Given the description of an element on the screen output the (x, y) to click on. 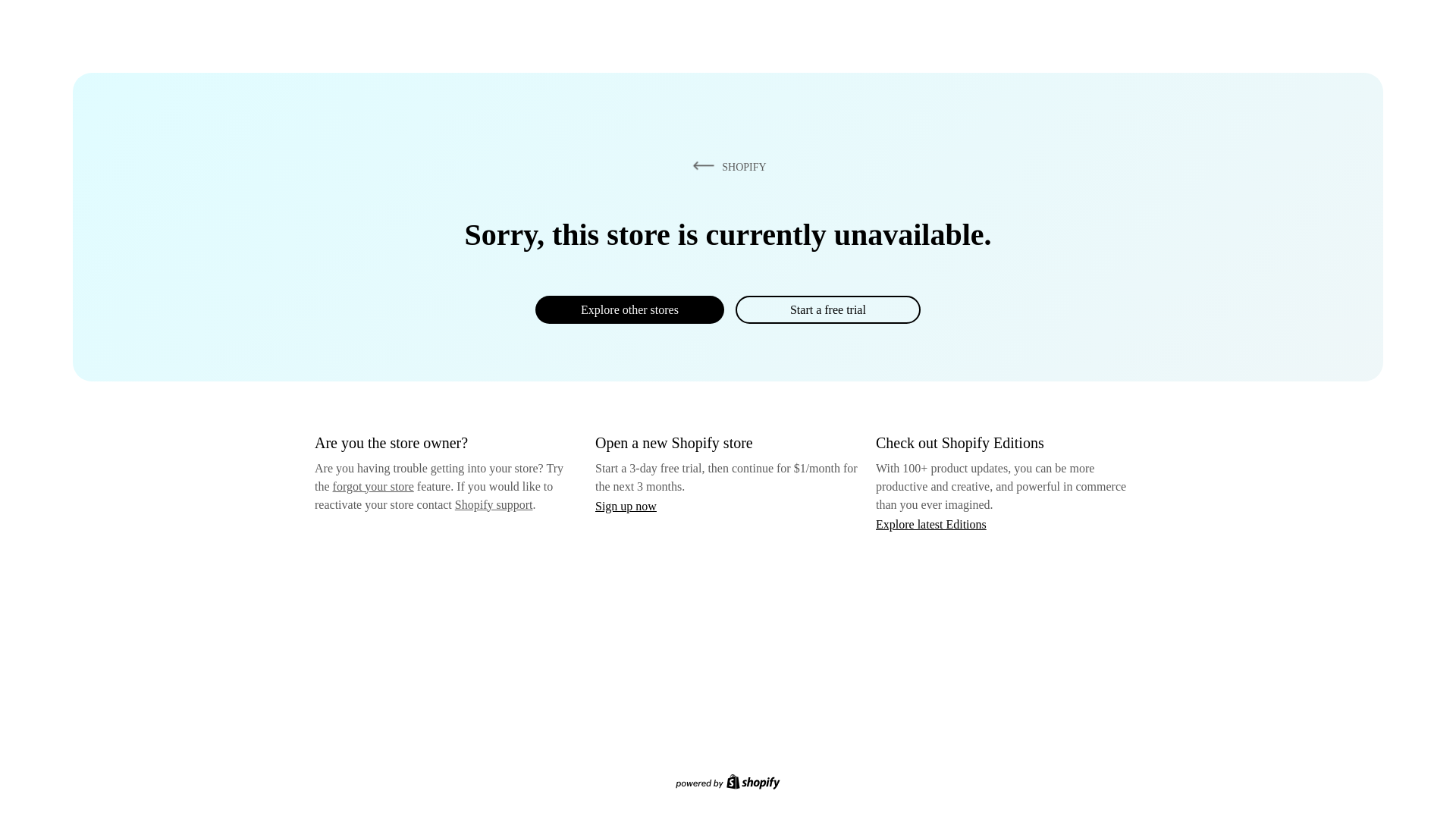
Explore other stores (629, 309)
Sign up now (625, 505)
SHOPIFY (726, 166)
Shopify support (493, 504)
Explore latest Editions (931, 523)
Start a free trial (827, 309)
forgot your store (373, 486)
